Given the description of an element on the screen output the (x, y) to click on. 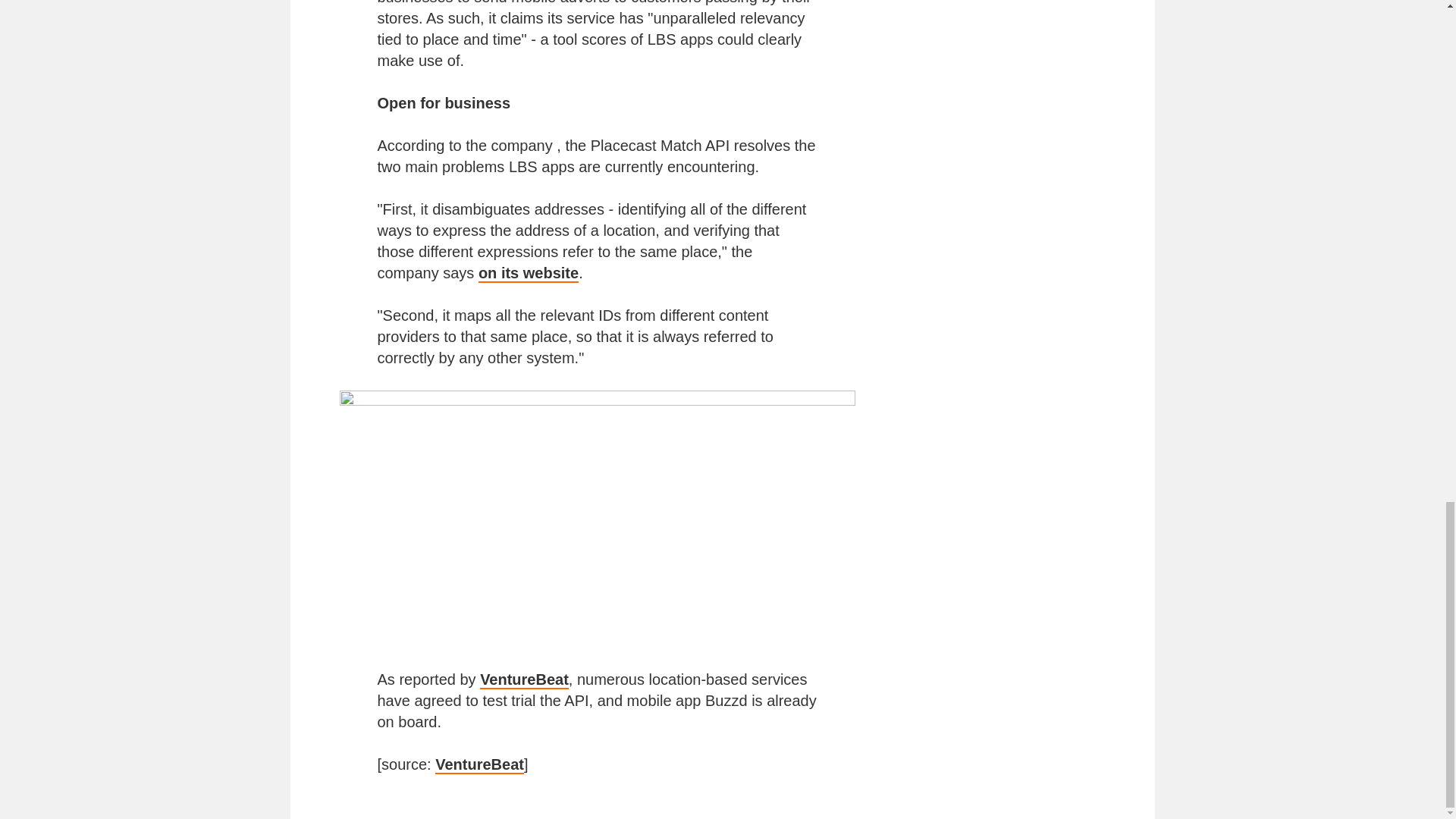
VentureBeat (479, 764)
VentureBeat (524, 679)
on its website (528, 273)
